Given the description of an element on the screen output the (x, y) to click on. 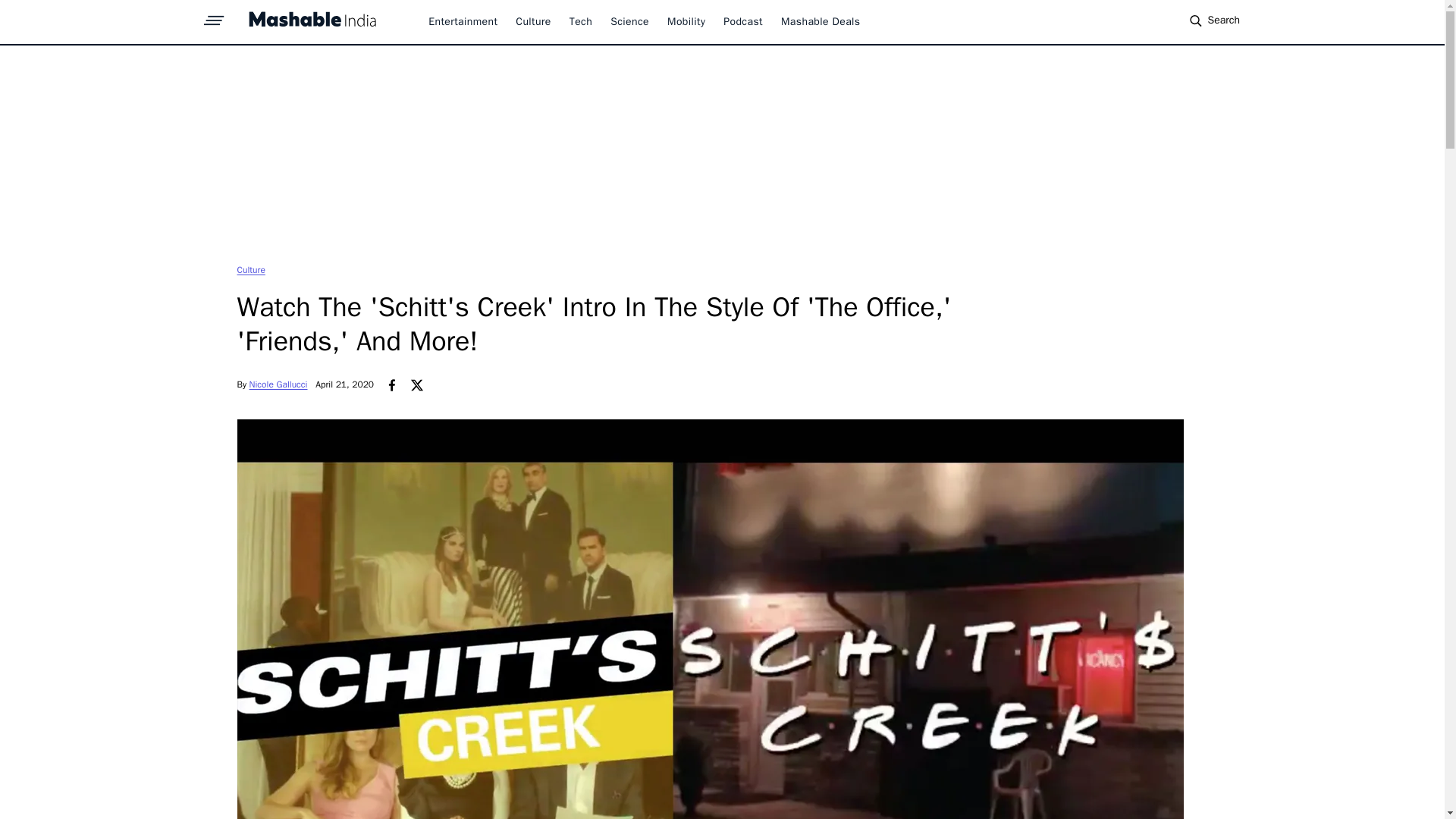
Mashable Deals (820, 21)
Culture (249, 269)
Nicole Gallucci (277, 384)
Tech (580, 21)
Culture (532, 21)
Podcast (742, 21)
Entertainment (462, 21)
Culture (249, 269)
Science (629, 21)
Mobility (685, 21)
